Given the description of an element on the screen output the (x, y) to click on. 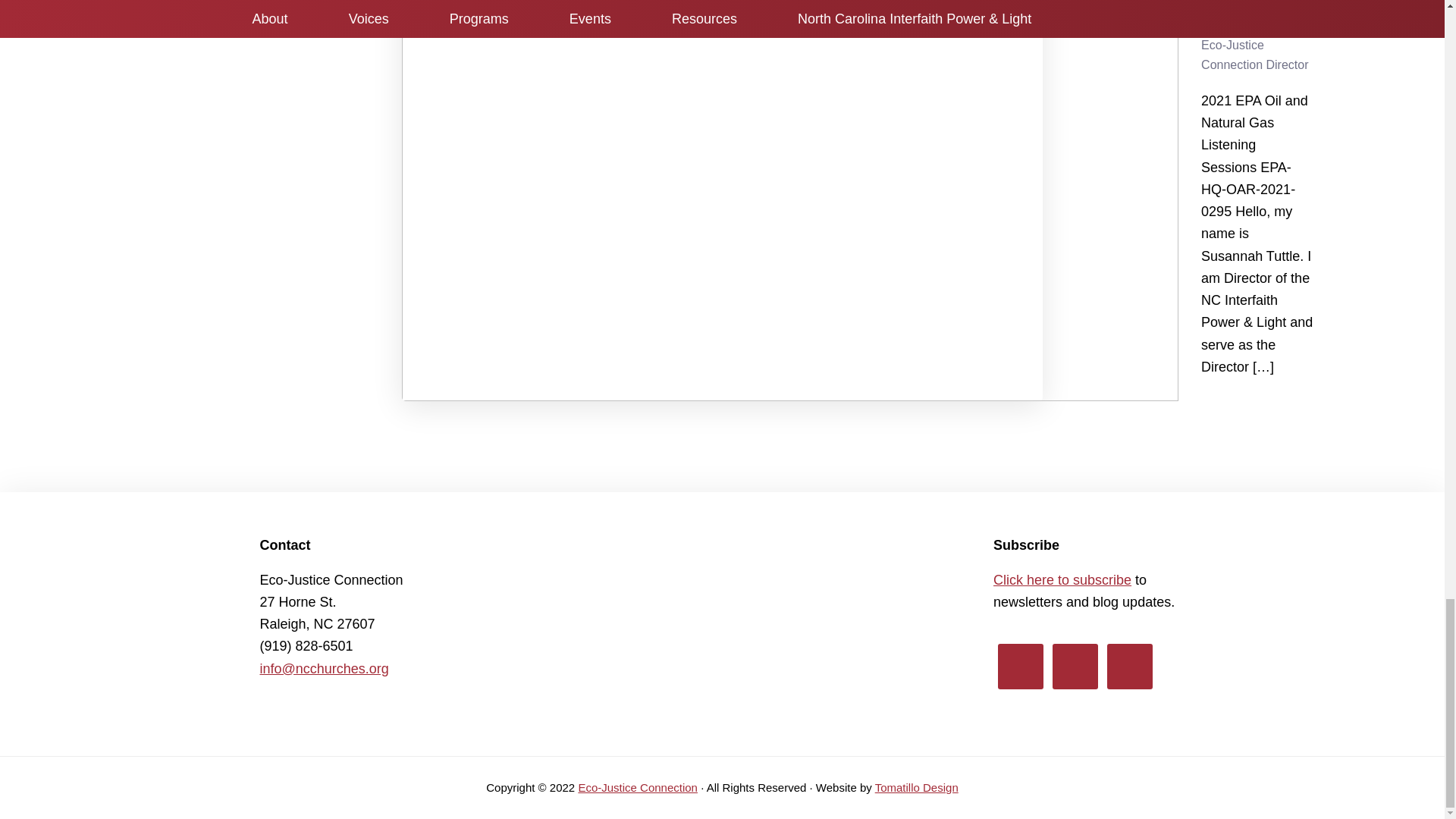
Amazing, Affordable Websites for Nonprofits (916, 787)
